Given the description of an element on the screen output the (x, y) to click on. 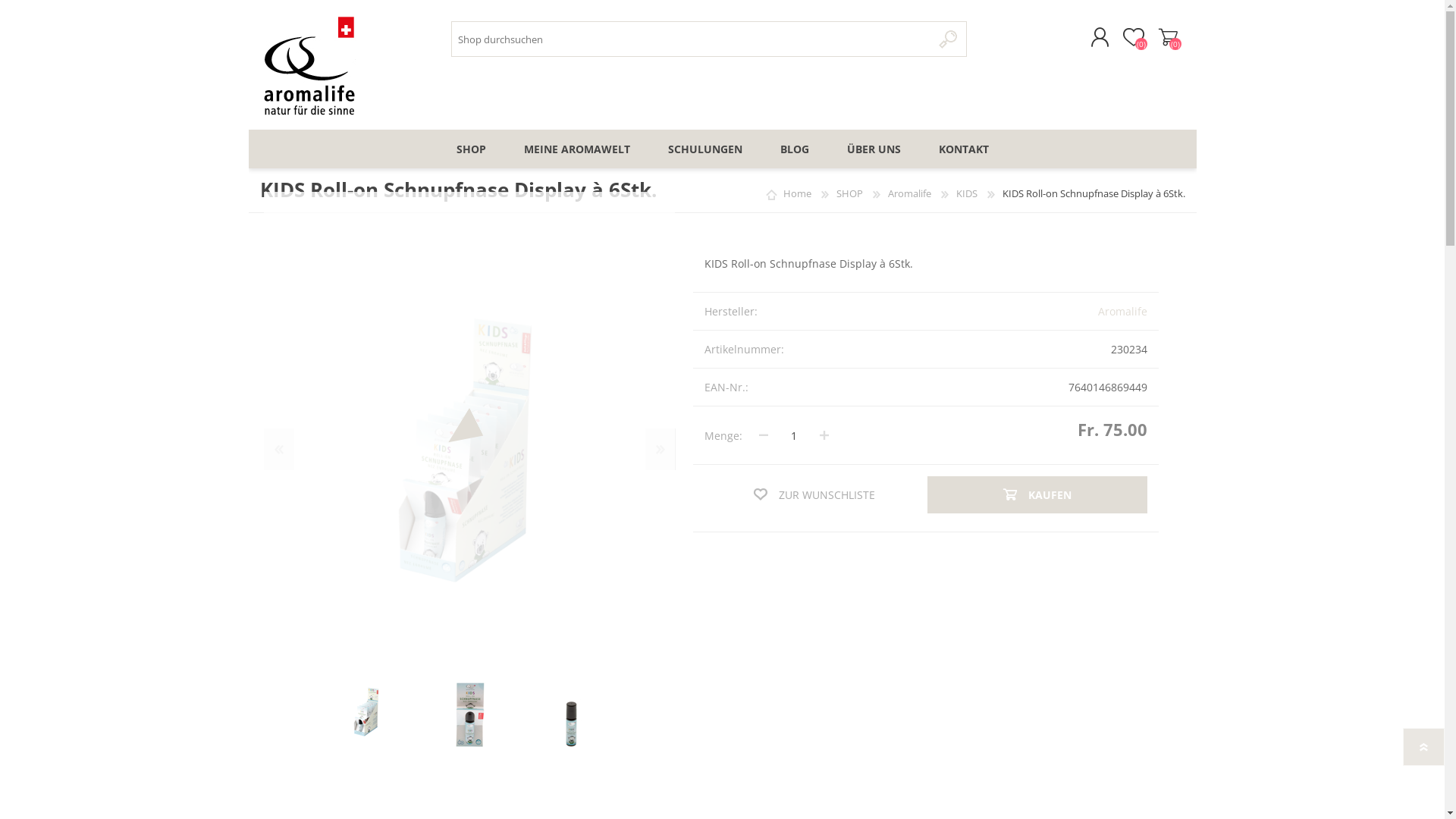
BLOG Element type: text (794, 148)
SCHULUNGEN Element type: text (705, 148)
MEINE AROMAWELT Element type: text (577, 148)
SHOP Element type: text (470, 148)
Wunschliste
(0) Element type: text (1133, 36)
Aromalife Element type: text (909, 193)
SHOP Element type: text (849, 193)
ZUR WUNSCHLISTE Element type: text (814, 494)
Aromalife Element type: text (1122, 311)
Suchen Element type: text (948, 38)
KAUFEN Element type: text (1037, 494)
KONTAKT Element type: text (963, 148)
Home Element type: text (797, 193)
Warenkorb Element type: text (1168, 36)
KIDS Element type: text (967, 193)
